Given the description of an element on the screen output the (x, y) to click on. 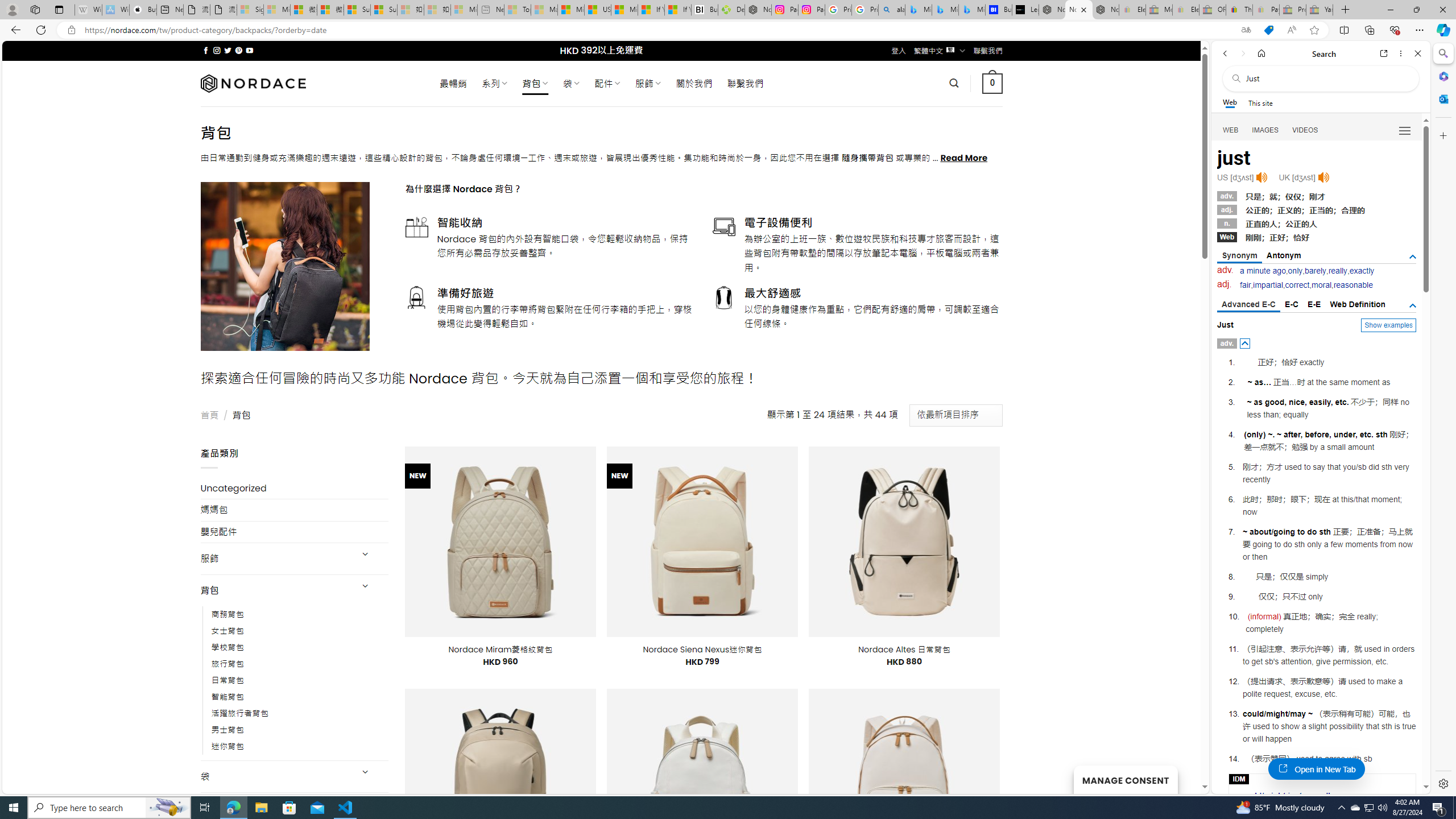
Descarga Driver Updater (731, 9)
Read More (964, 157)
Follow on YouTube (249, 50)
impartial (1267, 284)
